Given the description of an element on the screen output the (x, y) to click on. 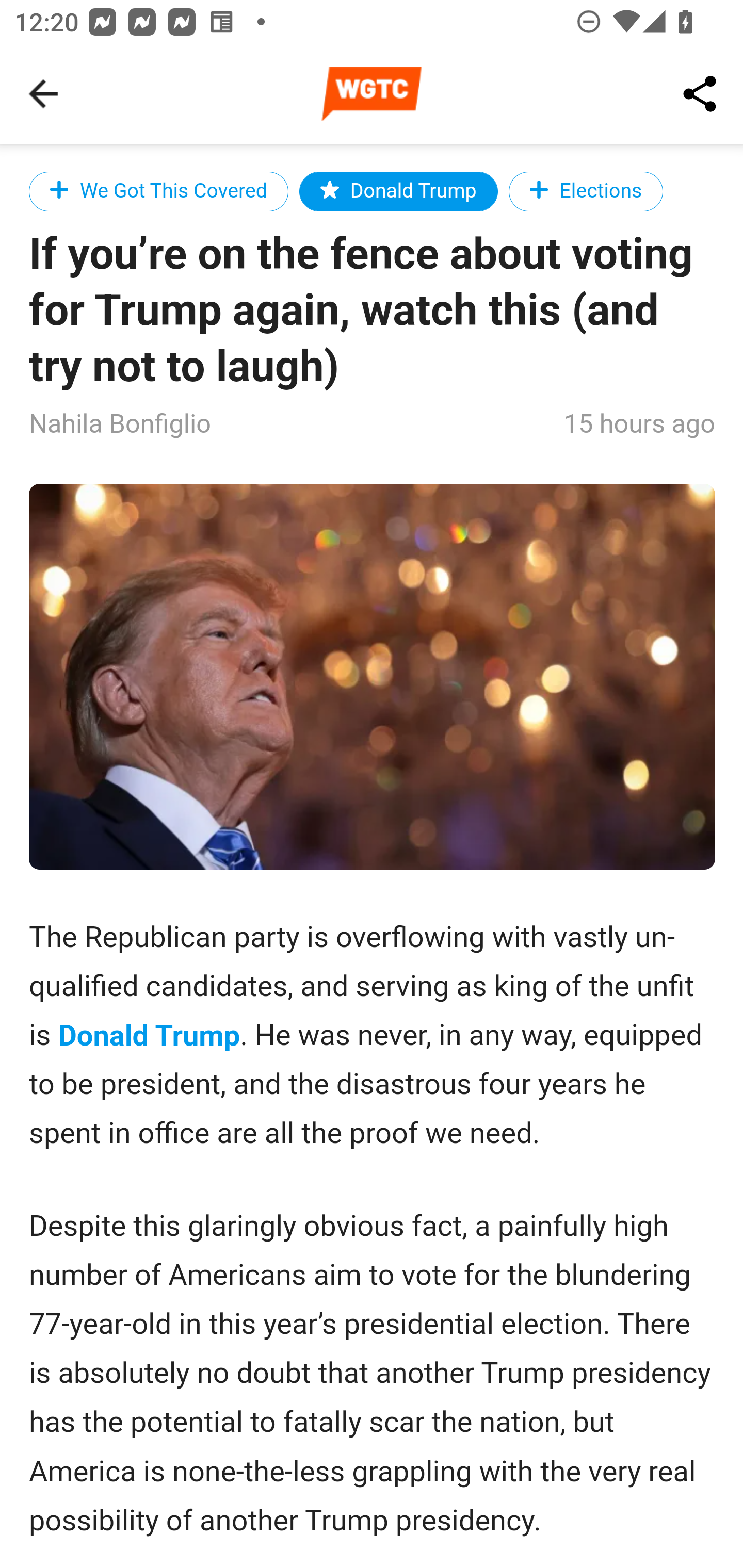
We Got This Covered (158, 191)
Donald Trump (397, 191)
Elections (585, 191)
Donald Trump (149, 1035)
